Given the description of an element on the screen output the (x, y) to click on. 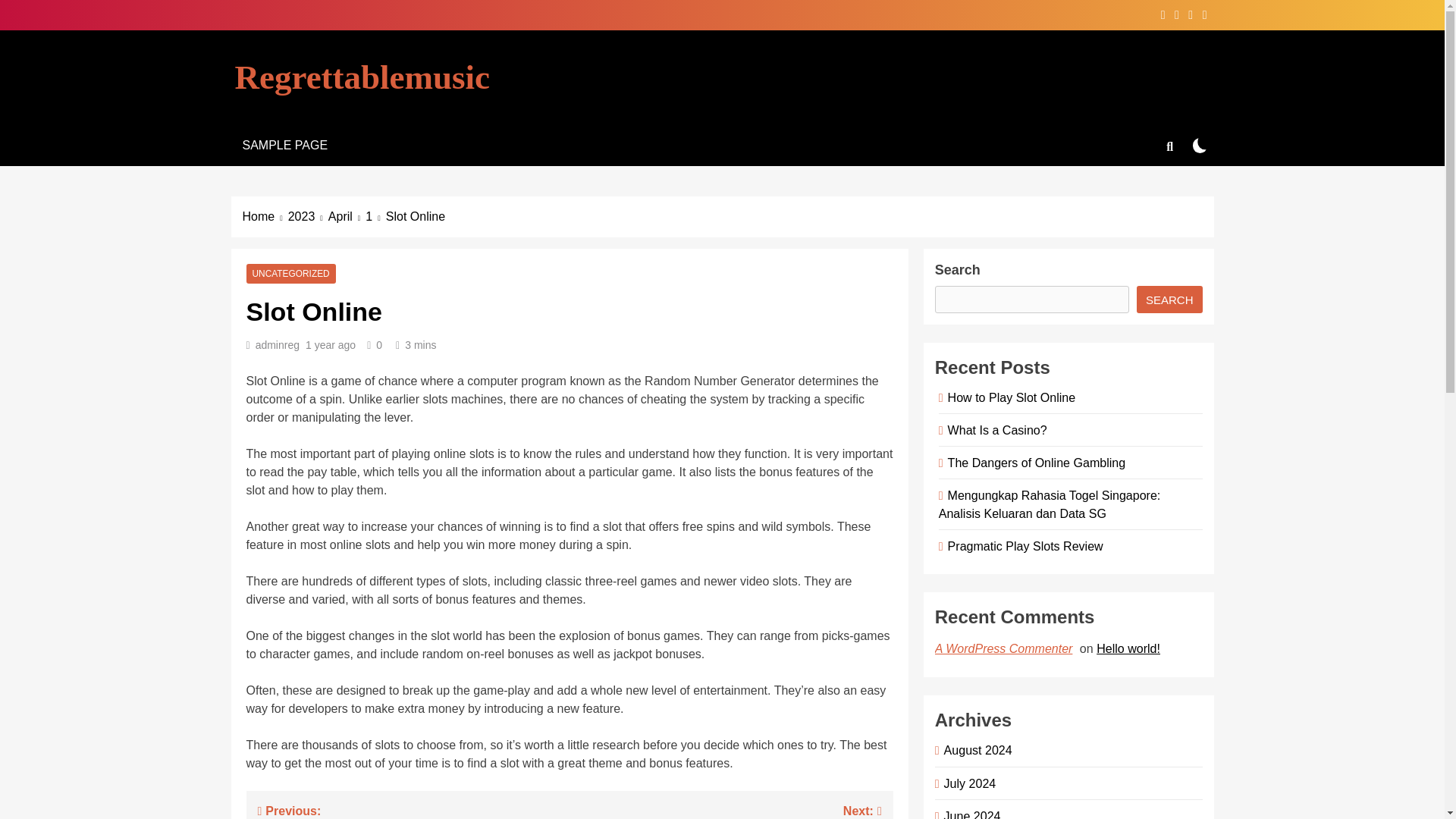
SAMPLE PAGE (284, 145)
July 2024 (967, 783)
A WordPress Commenter (1005, 648)
1 (375, 217)
Home (265, 217)
adminreg (277, 345)
Regrettablemusic (362, 77)
Hello world! (1129, 648)
The Dangers of Online Gambling (1034, 462)
